Given the description of an element on the screen output the (x, y) to click on. 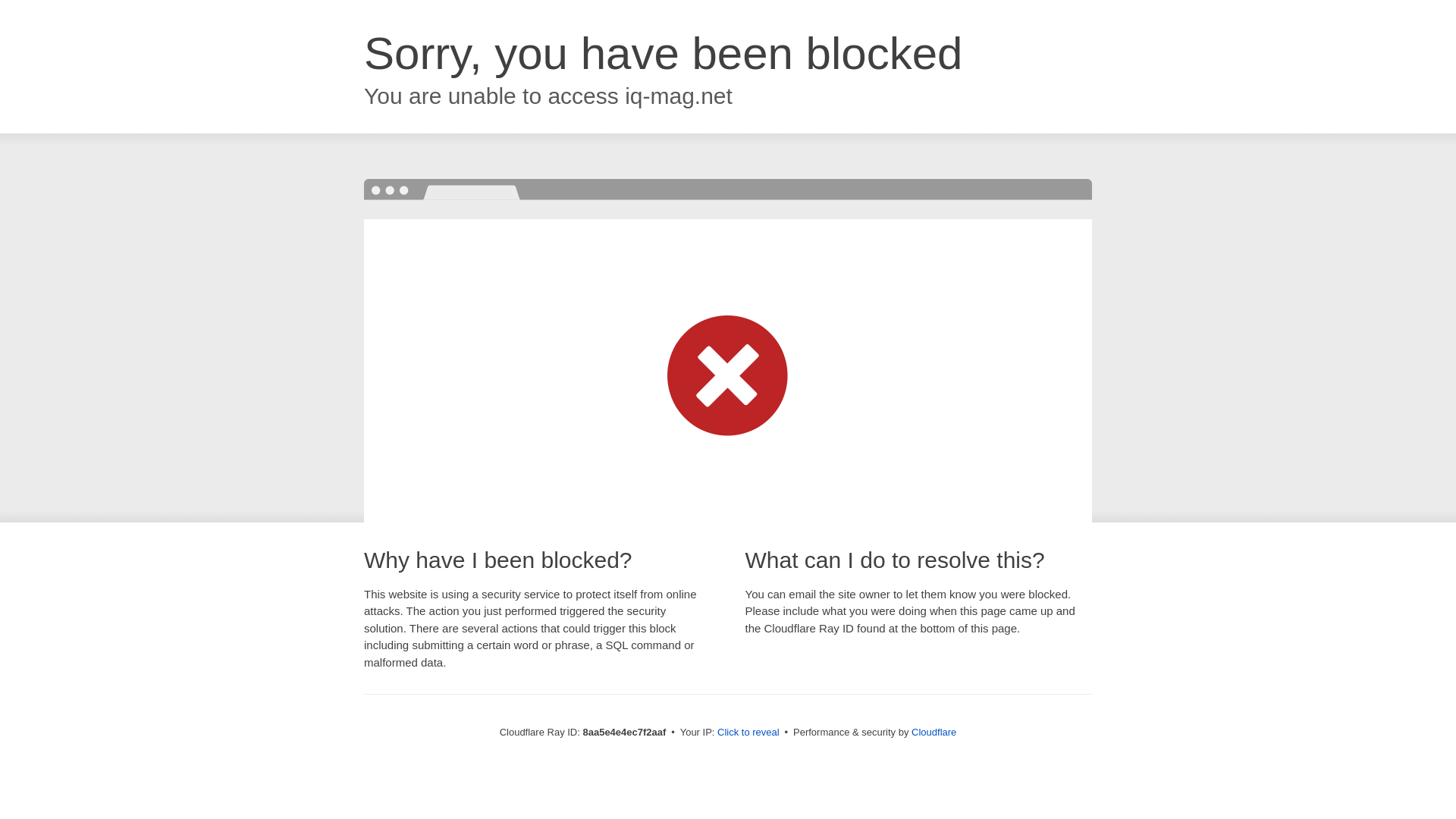
Click to reveal (747, 732)
Cloudflare (933, 731)
